Given the description of an element on the screen output the (x, y) to click on. 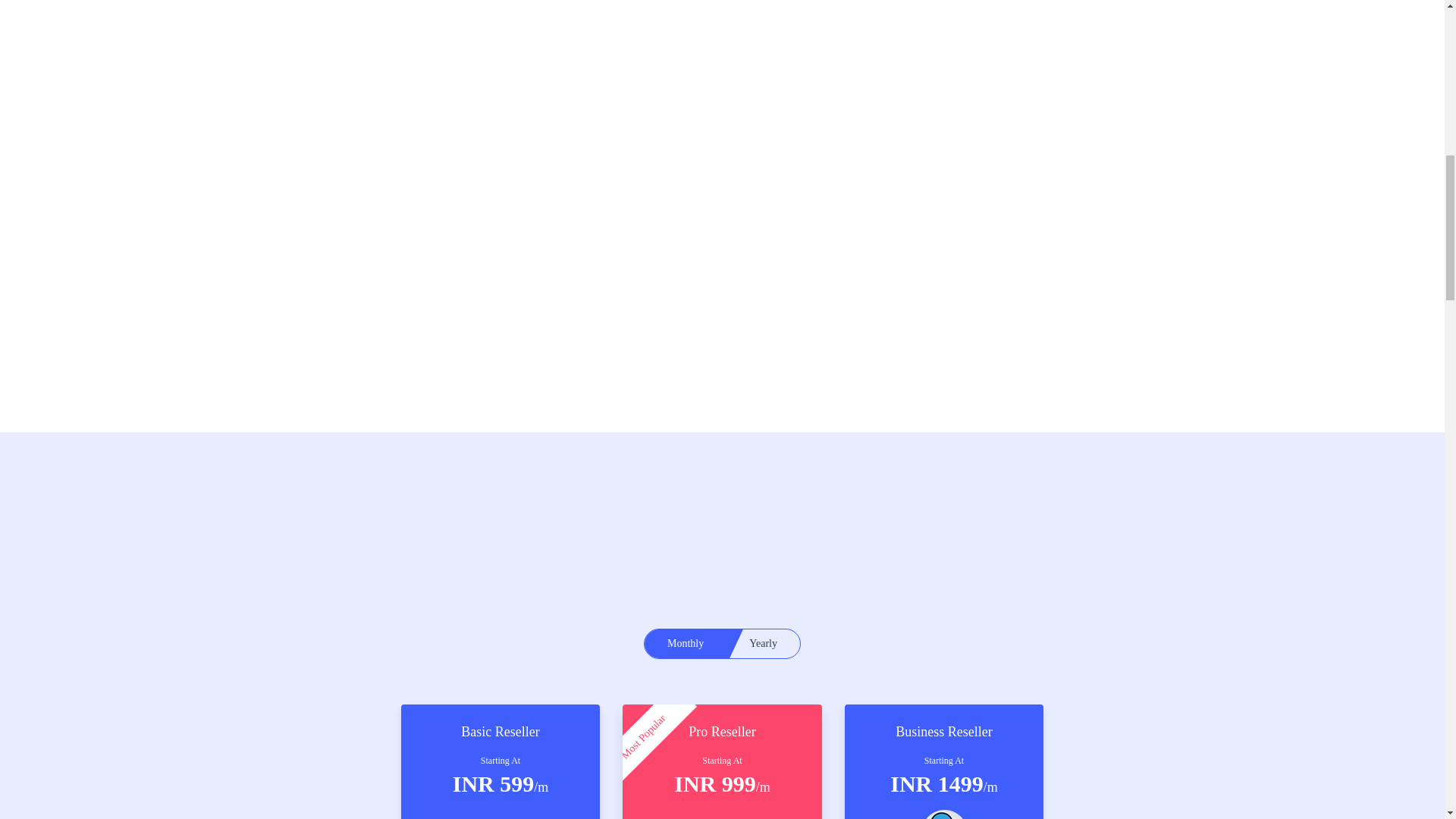
Yearly (762, 643)
Reseller Hosting 9 (943, 814)
Monthly (685, 643)
